Given the description of an element on the screen output the (x, y) to click on. 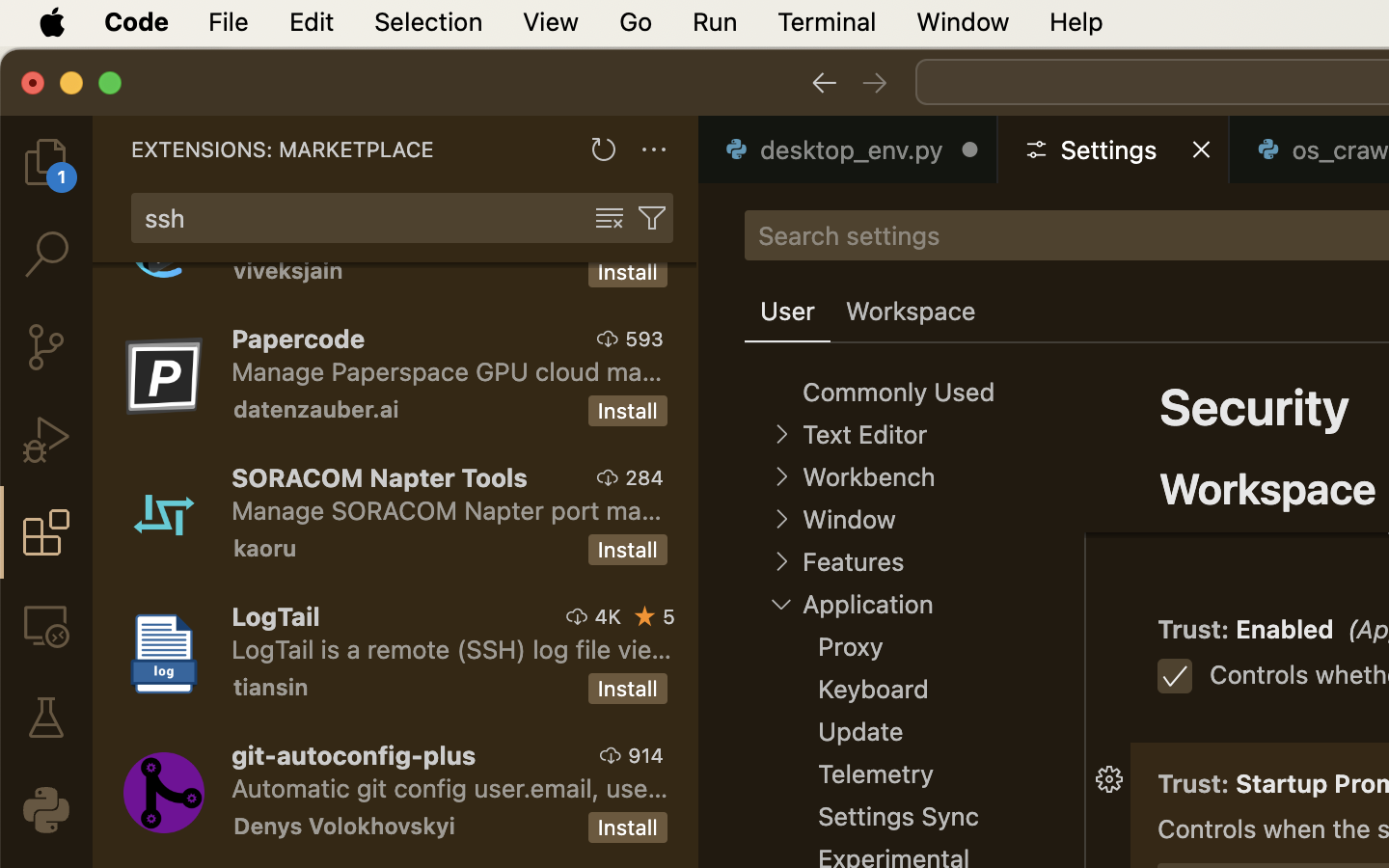
datenzauber.ai Element type: AXStaticText (316, 408)
 Element type: AXStaticText (608, 476)
 Element type: AXButton (609, 217)
git-autoconfig-plus Element type: AXStaticText (353, 754)
LogTail is a remote (SSH) log file viewer and monitoring extension. Element type: AXStaticText (452, 648)
